Given the description of an element on the screen output the (x, y) to click on. 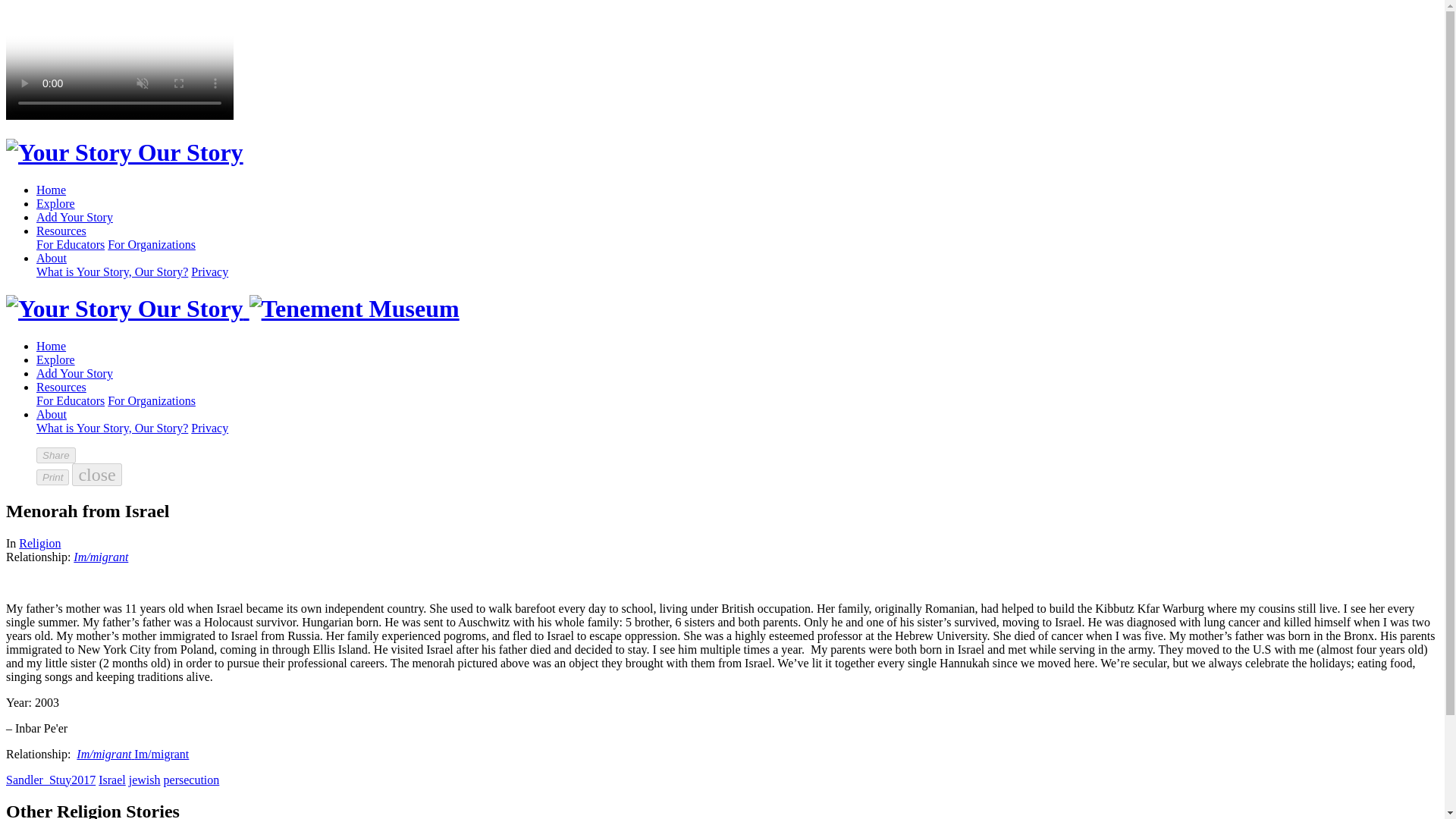
For Organizations (151, 400)
What is Your Story, Our Story? (111, 427)
For Educators (70, 400)
Add Your Story (74, 216)
About (51, 413)
persecution (191, 779)
Resources (60, 230)
Home (50, 345)
Privacy (209, 271)
close (95, 474)
